Given the description of an element on the screen output the (x, y) to click on. 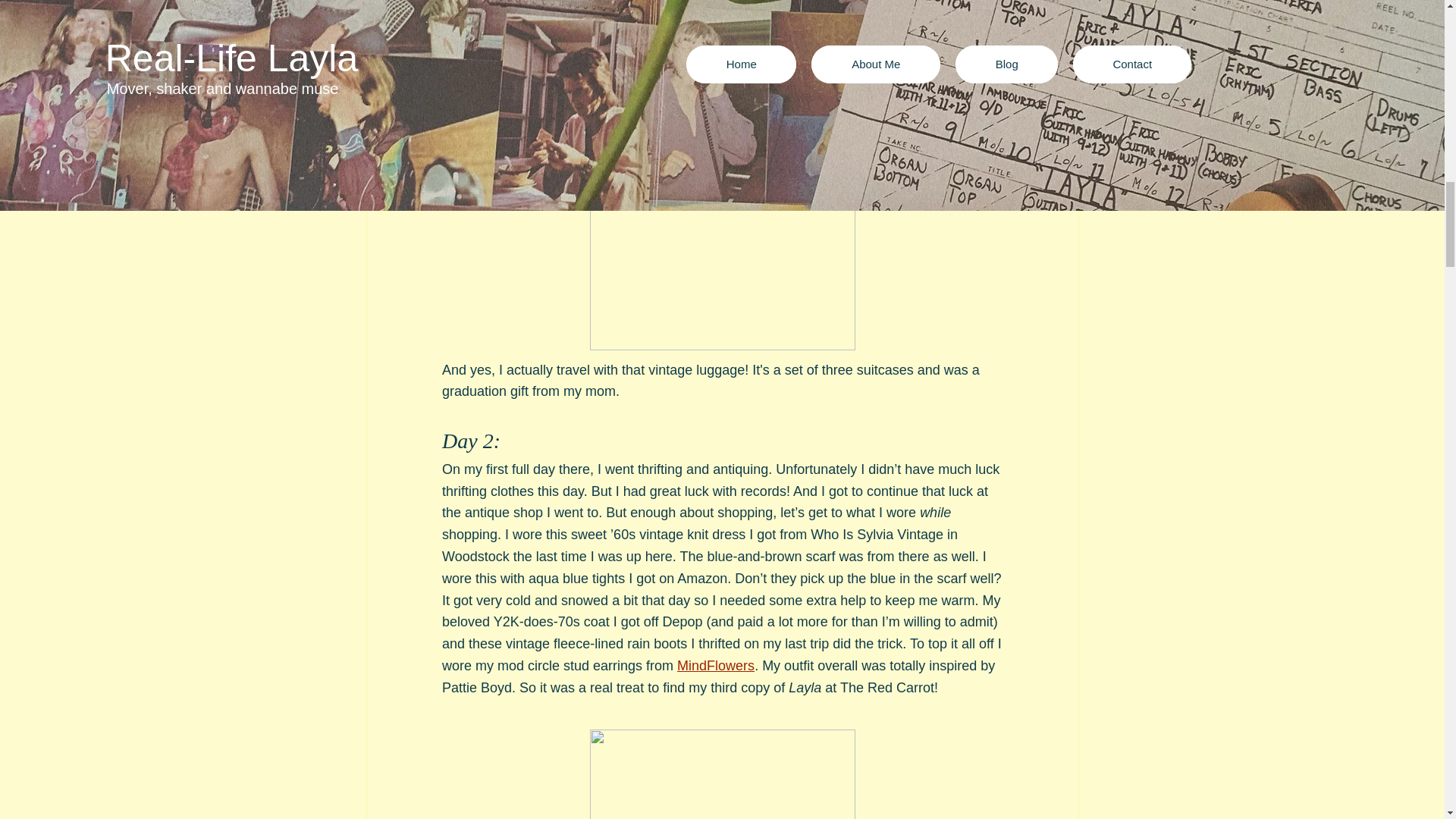
MindFlowers (715, 665)
